Given the description of an element on the screen output the (x, y) to click on. 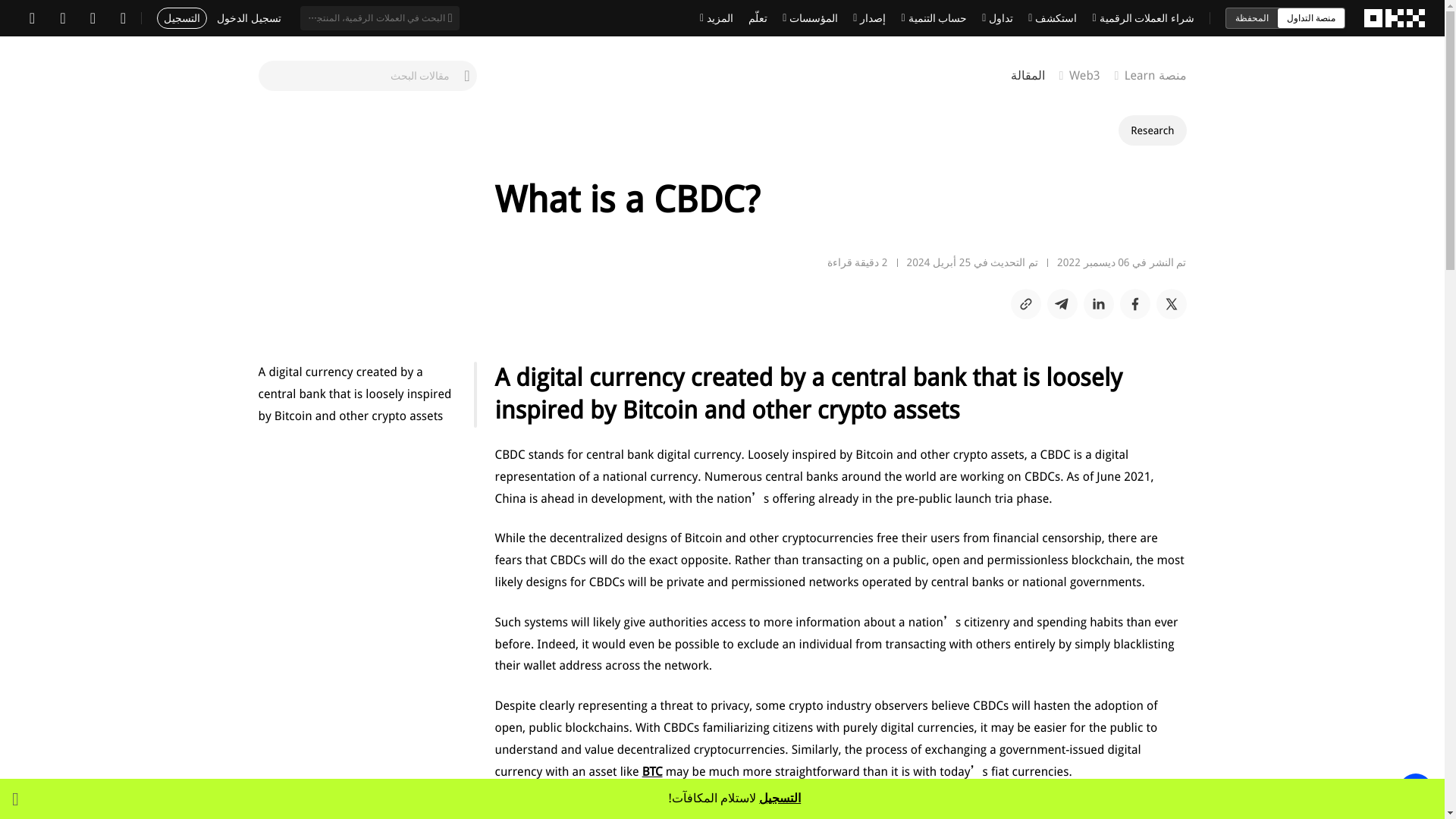
OKX (1395, 17)
BTC (652, 771)
